Given the description of an element on the screen output the (x, y) to click on. 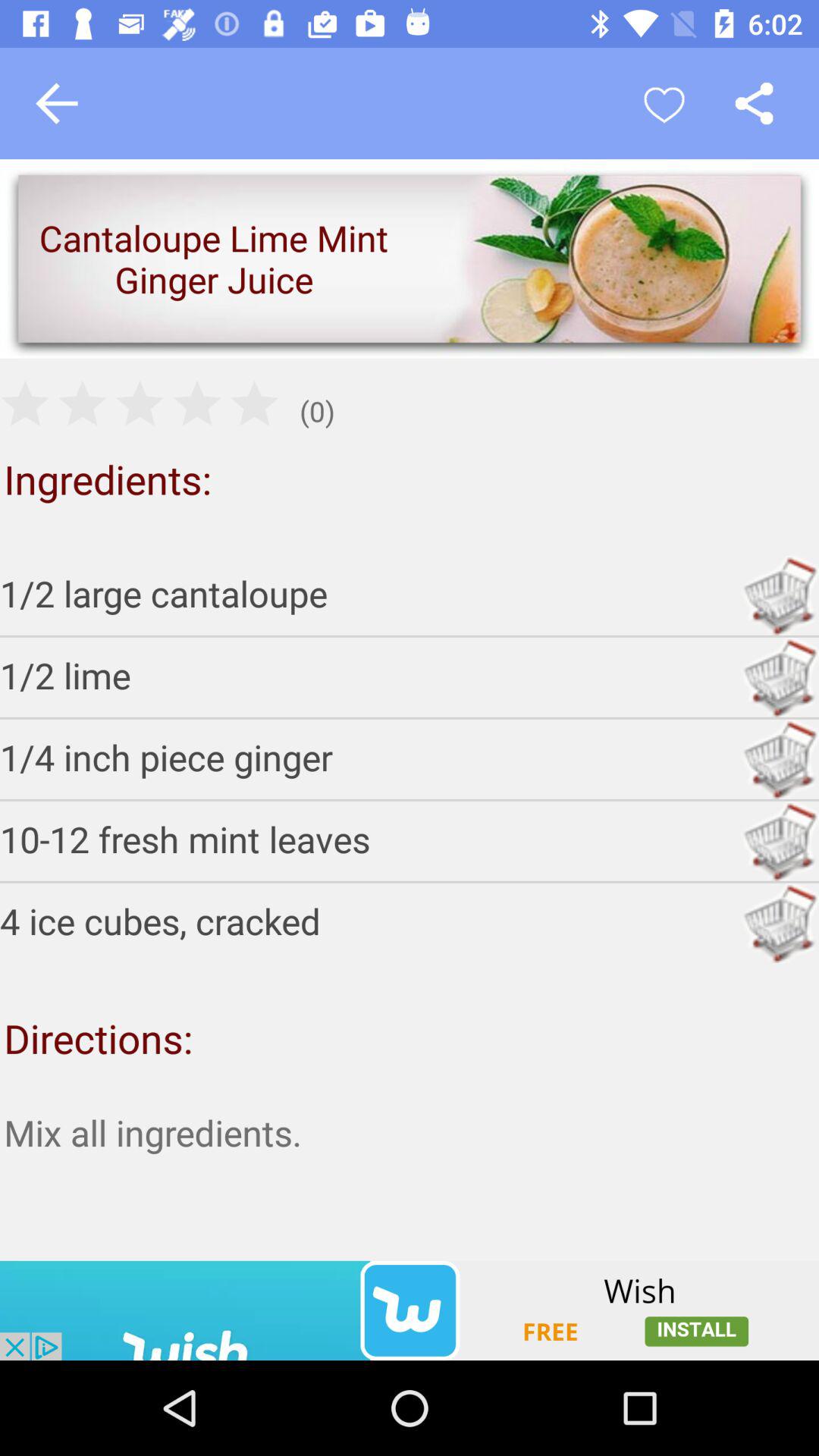
favorite recipe (664, 103)
